Given the description of an element on the screen output the (x, y) to click on. 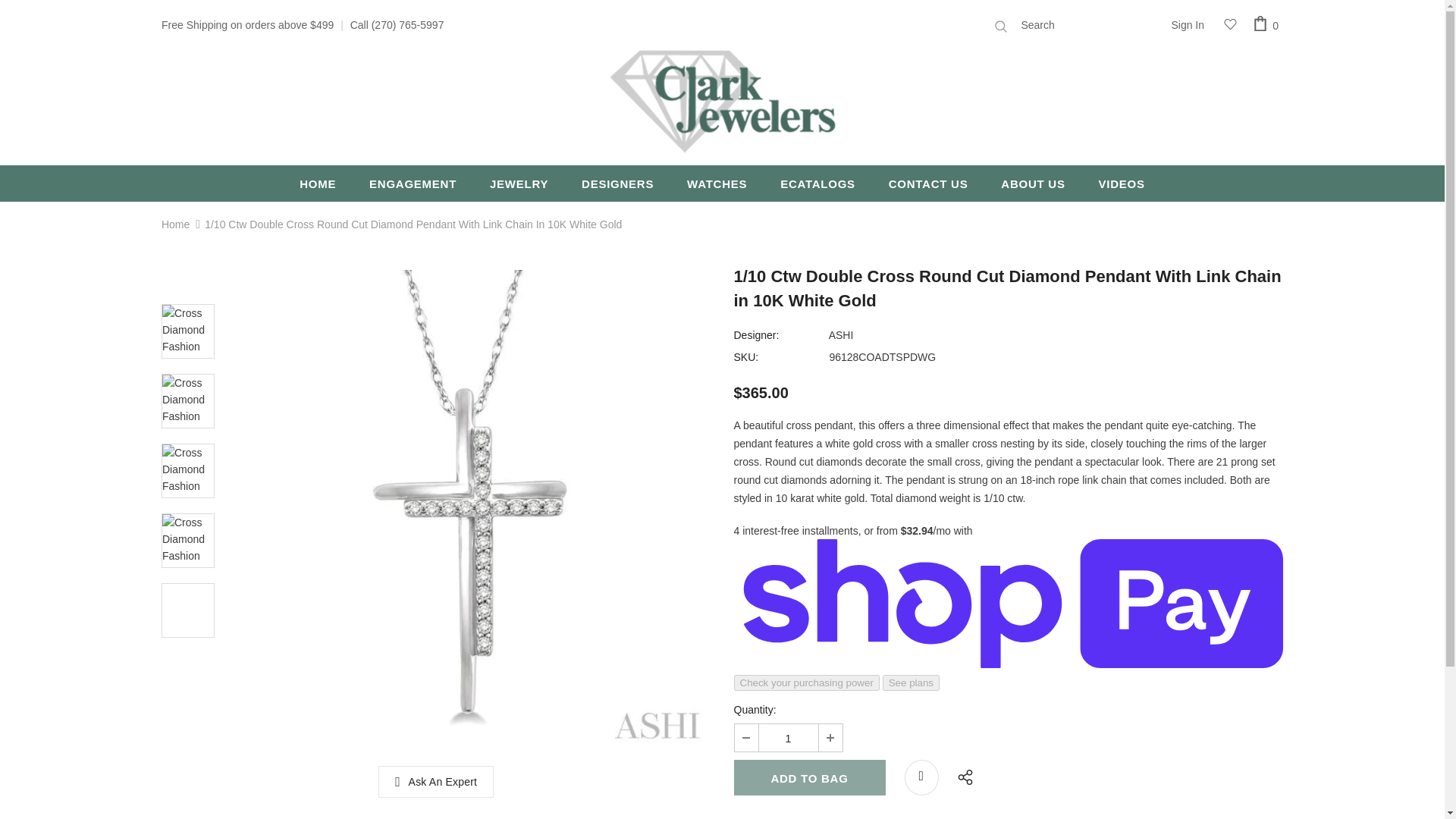
1 (787, 737)
Add to Bag (809, 777)
